Given the description of an element on the screen output the (x, y) to click on. 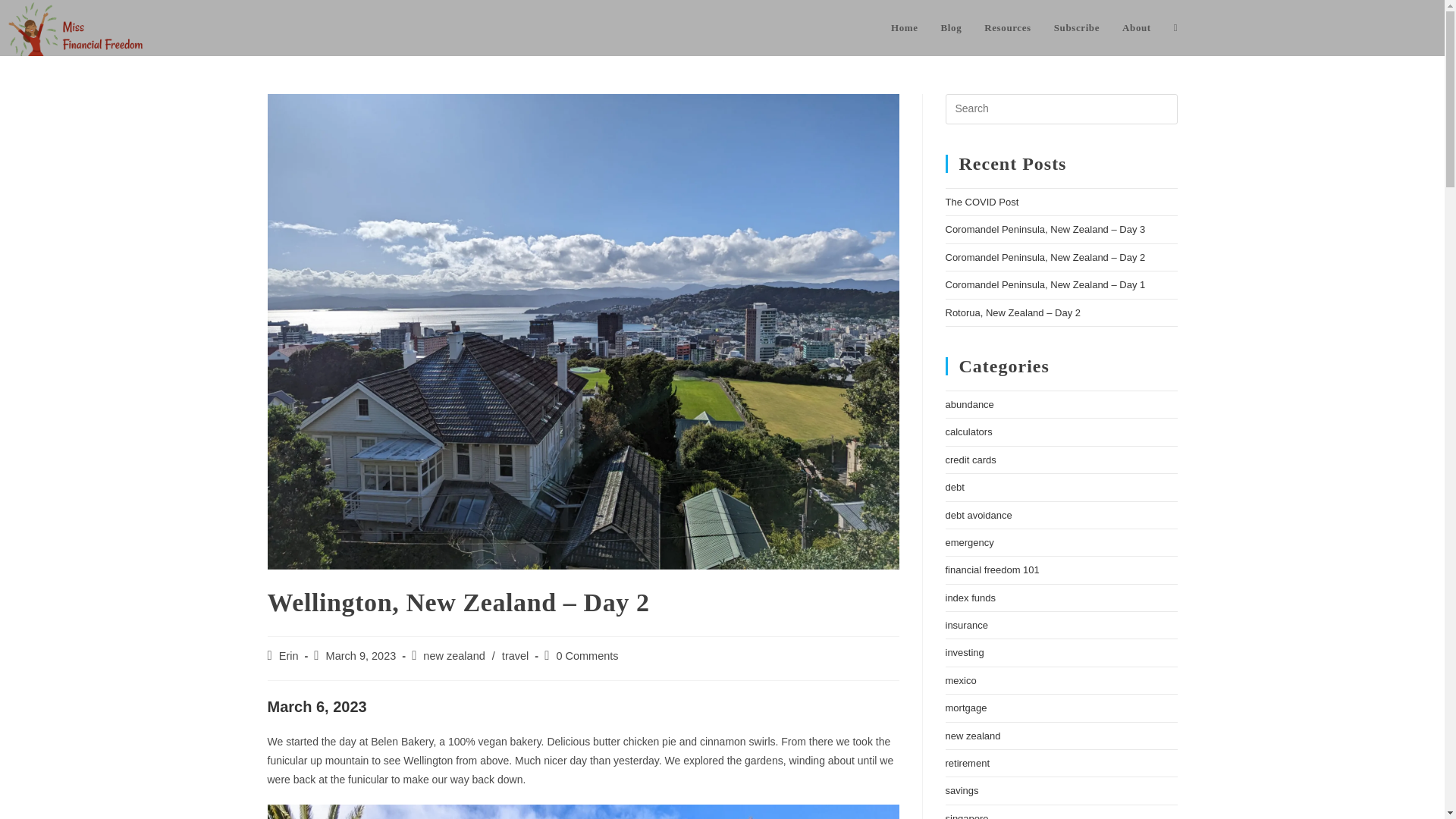
The COVID Post (980, 202)
Erin (288, 655)
Home (904, 28)
travel (515, 655)
Toggle website search (1175, 28)
Blog (952, 28)
Subscribe (1076, 28)
About (1135, 28)
Posts by Erin (288, 655)
Resources (1007, 28)
new zealand (453, 655)
abundance (968, 404)
0 Comments (586, 655)
